Given the description of an element on the screen output the (x, y) to click on. 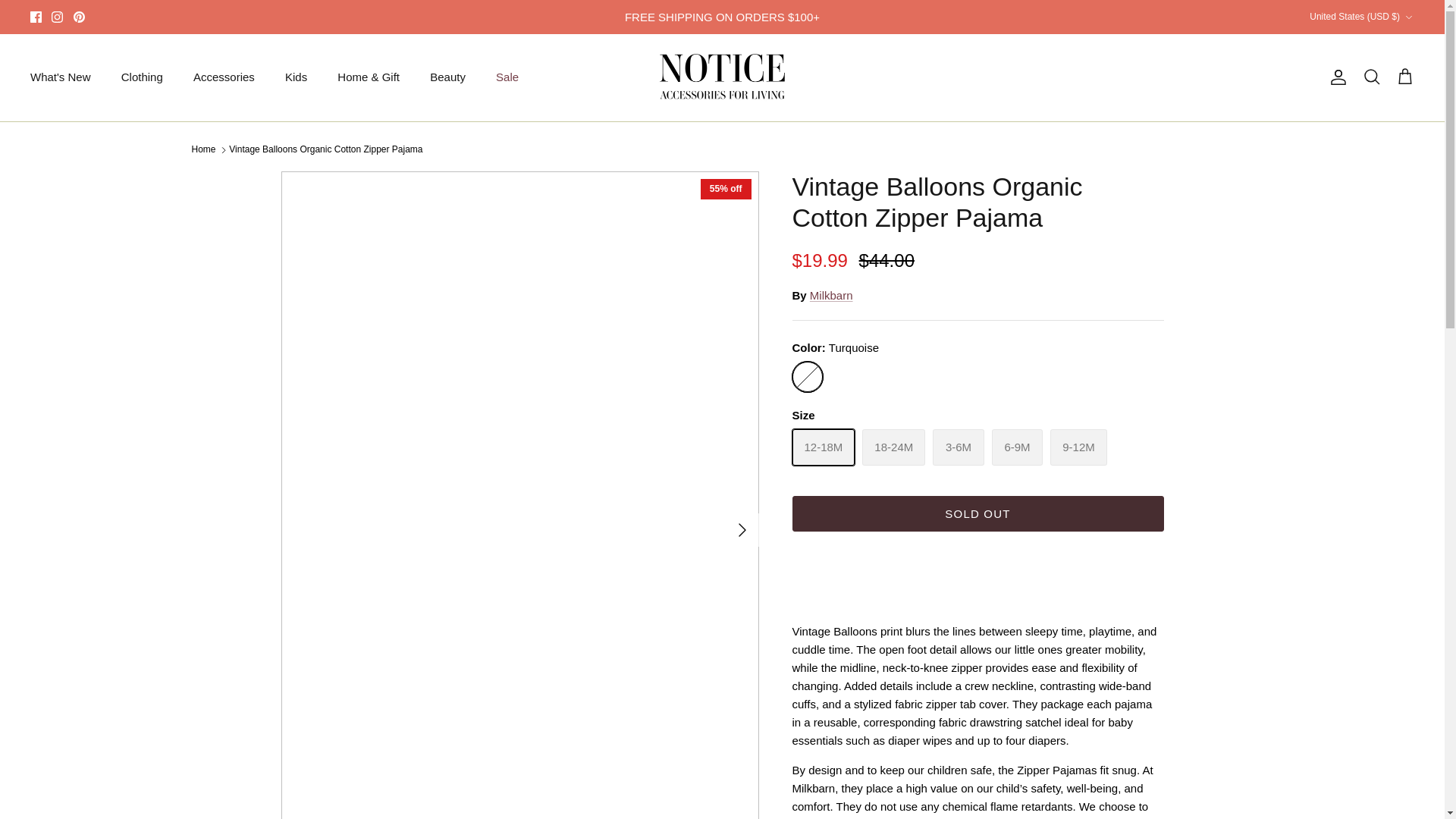
RIGHT (741, 529)
Notice: Accessories for Living (721, 77)
Down (1408, 17)
Facebook (36, 16)
Instagram (56, 16)
Pinterest (79, 16)
Instagram (56, 16)
Pinterest (79, 16)
Facebook (36, 16)
